Given the description of an element on the screen output the (x, y) to click on. 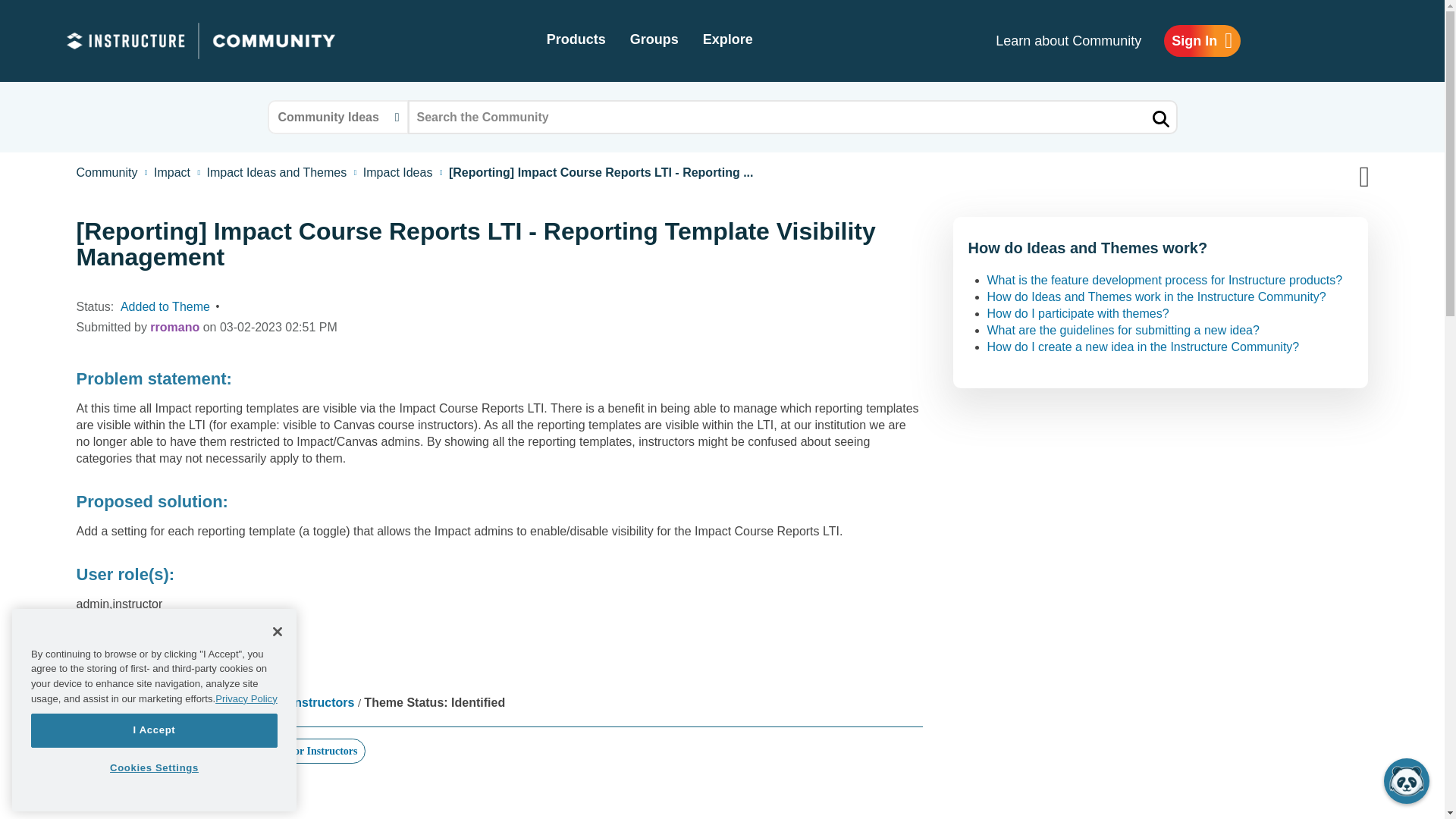
Search (1159, 118)
Search Granularity (336, 116)
Search (792, 116)
Search (1159, 118)
Show option menu (1349, 176)
Groups (653, 40)
Products (575, 40)
